Given the description of an element on the screen output the (x, y) to click on. 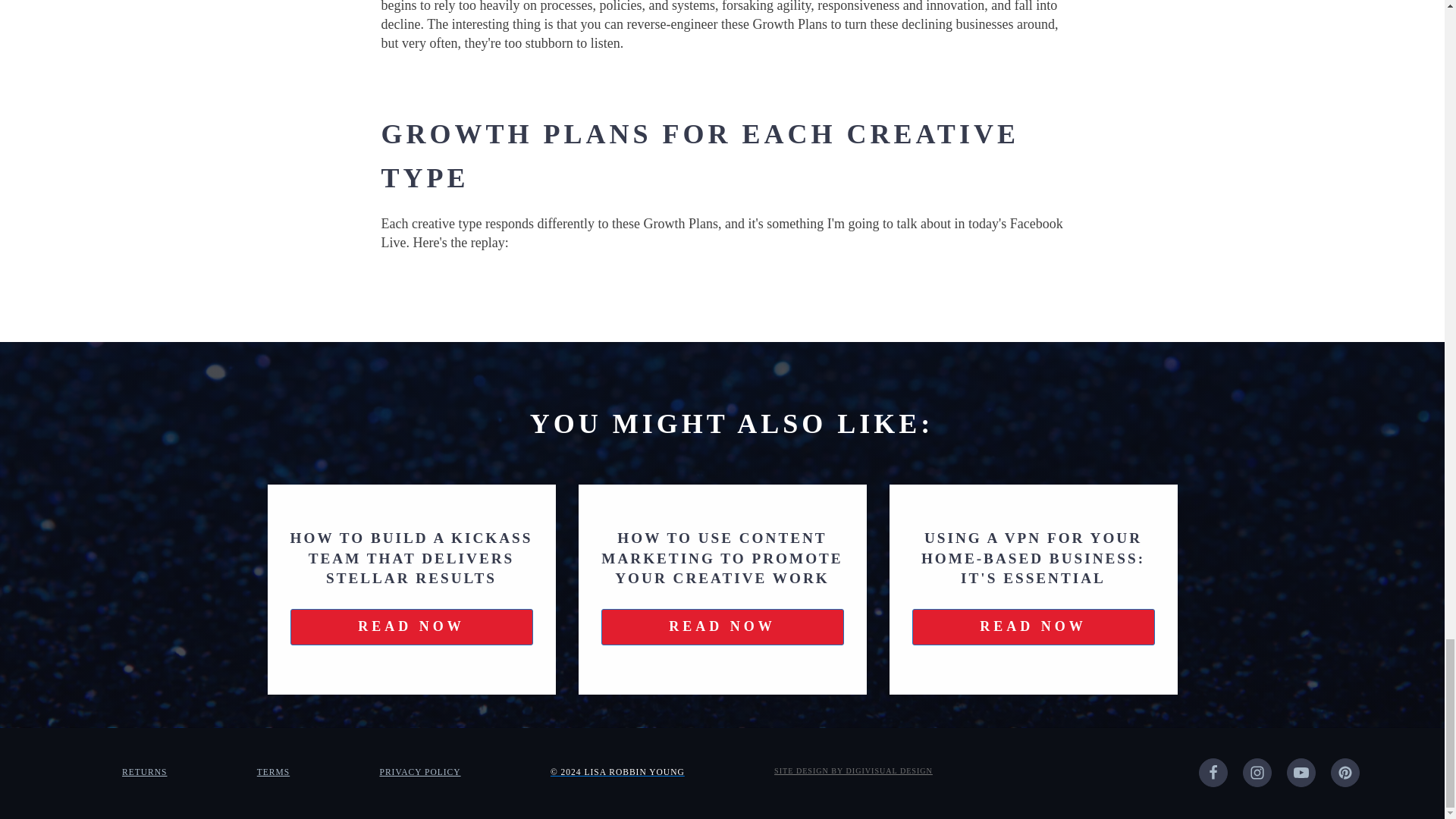
READ NOW (410, 626)
READ NOW (1032, 626)
SITE DESIGN BY DIGIVISUAL DESIGN (853, 770)
READ NOW (721, 626)
TERMS (273, 771)
RETURNS (144, 771)
PRIVACY POLICY (419, 771)
